Given the description of an element on the screen output the (x, y) to click on. 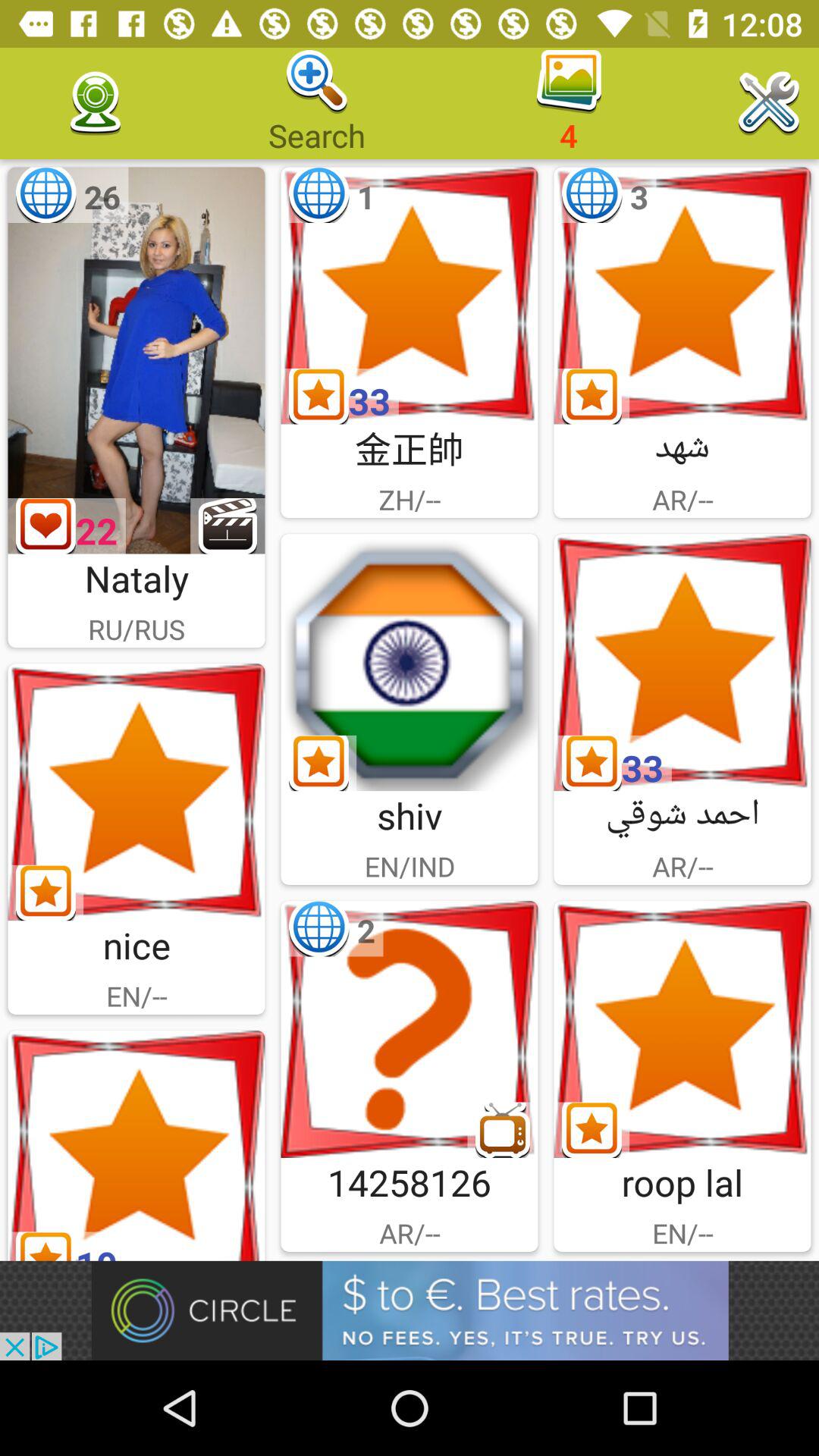
open images (136, 791)
